Given the description of an element on the screen output the (x, y) to click on. 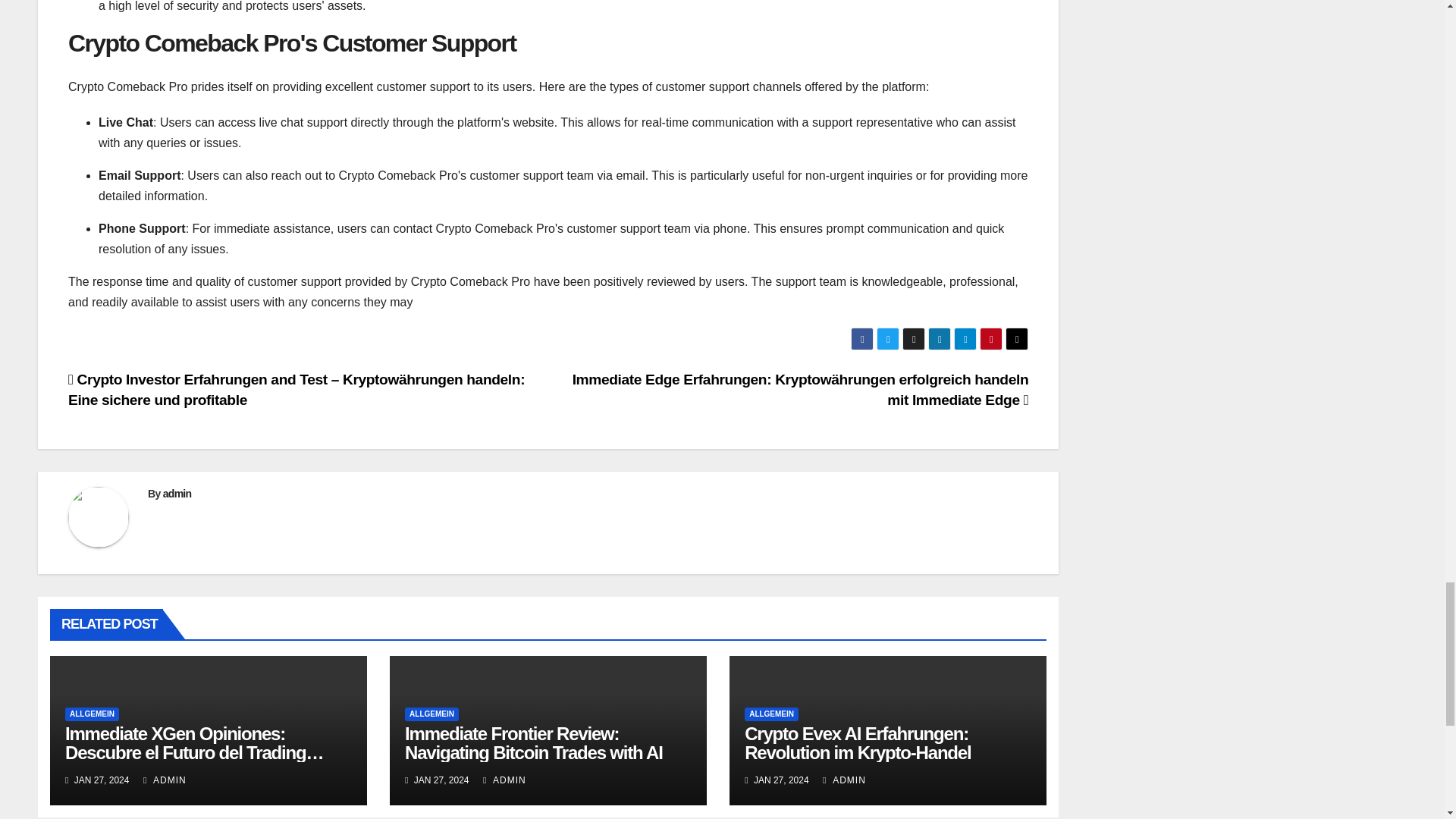
ALLGEMEIN (431, 714)
ALLGEMEIN (92, 714)
ADMIN (504, 779)
admin (177, 493)
ADMIN (164, 779)
Immediate Frontier Review: Navigating Bitcoin Trades with AI (533, 742)
